Given the description of an element on the screen output the (x, y) to click on. 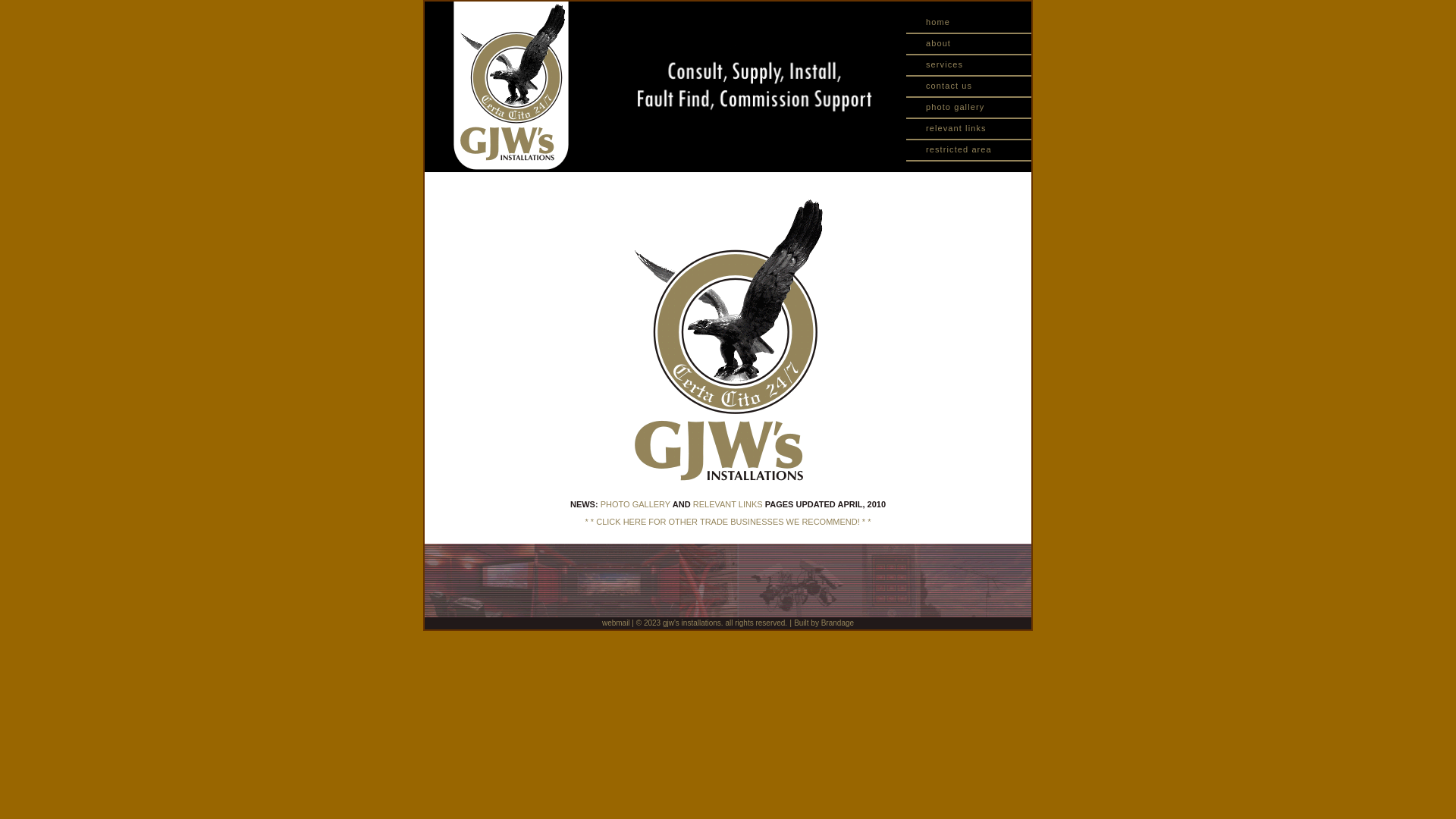
RELEVANT LINKS Element type: text (727, 503)
* * CLICK HERE FOR OTHER TRADE BUSINESSES WE RECOMMEND! Element type: text (723, 521)
photo gallery Element type: text (968, 106)
Built by Brandage Element type: text (823, 622)
webmail Element type: text (616, 622)
restricted area Element type: text (968, 149)
* * Element type: text (866, 521)
about Element type: text (968, 43)
relevant links Element type: text (968, 128)
services Element type: text (968, 64)
contact us Element type: text (968, 85)
home Element type: text (968, 21)
PHOTO GALLERY Element type: text (635, 503)
